Given the description of an element on the screen output the (x, y) to click on. 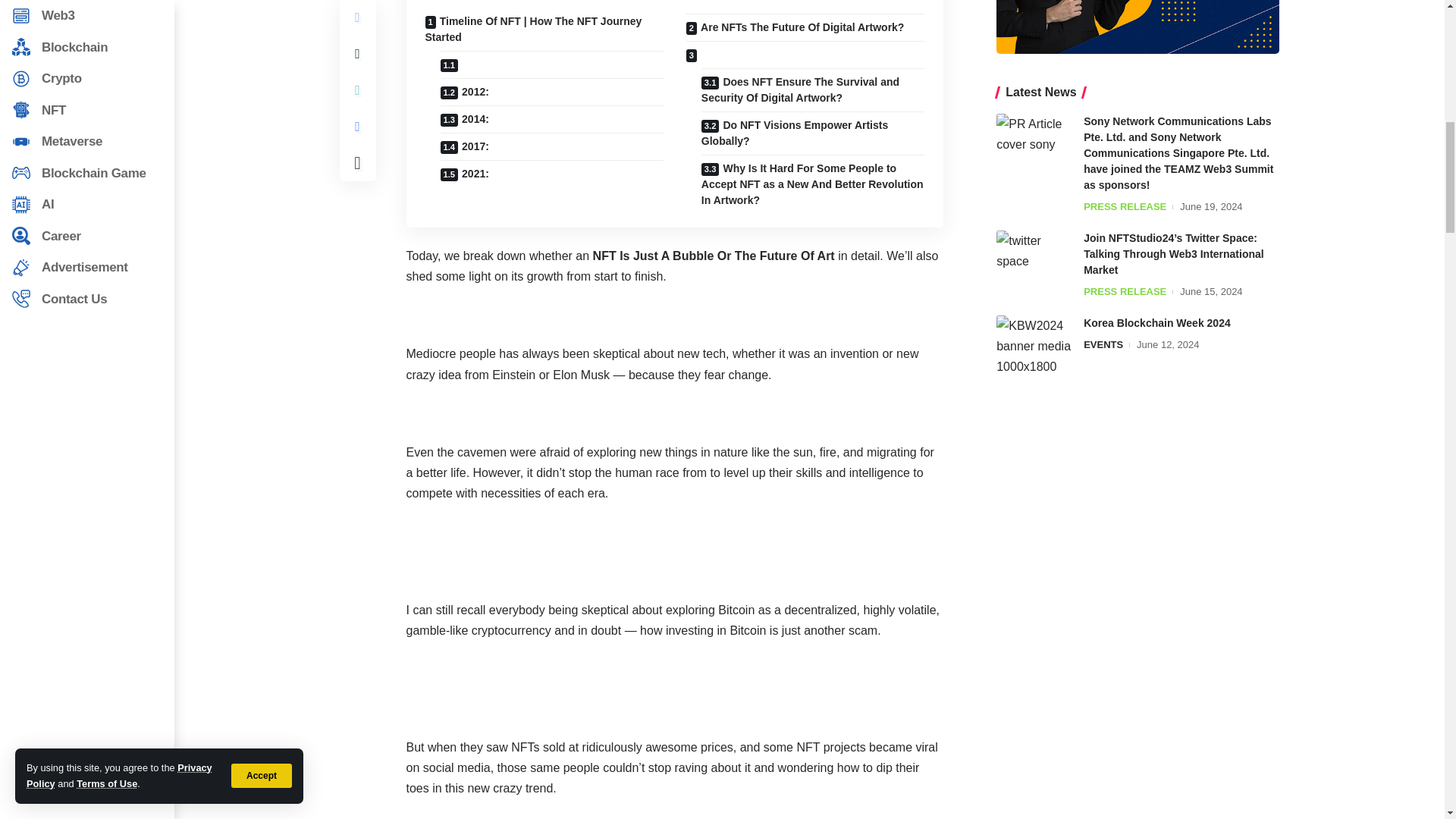
Korea Blockchain Week 2024 (1033, 343)
